Given the description of an element on the screen output the (x, y) to click on. 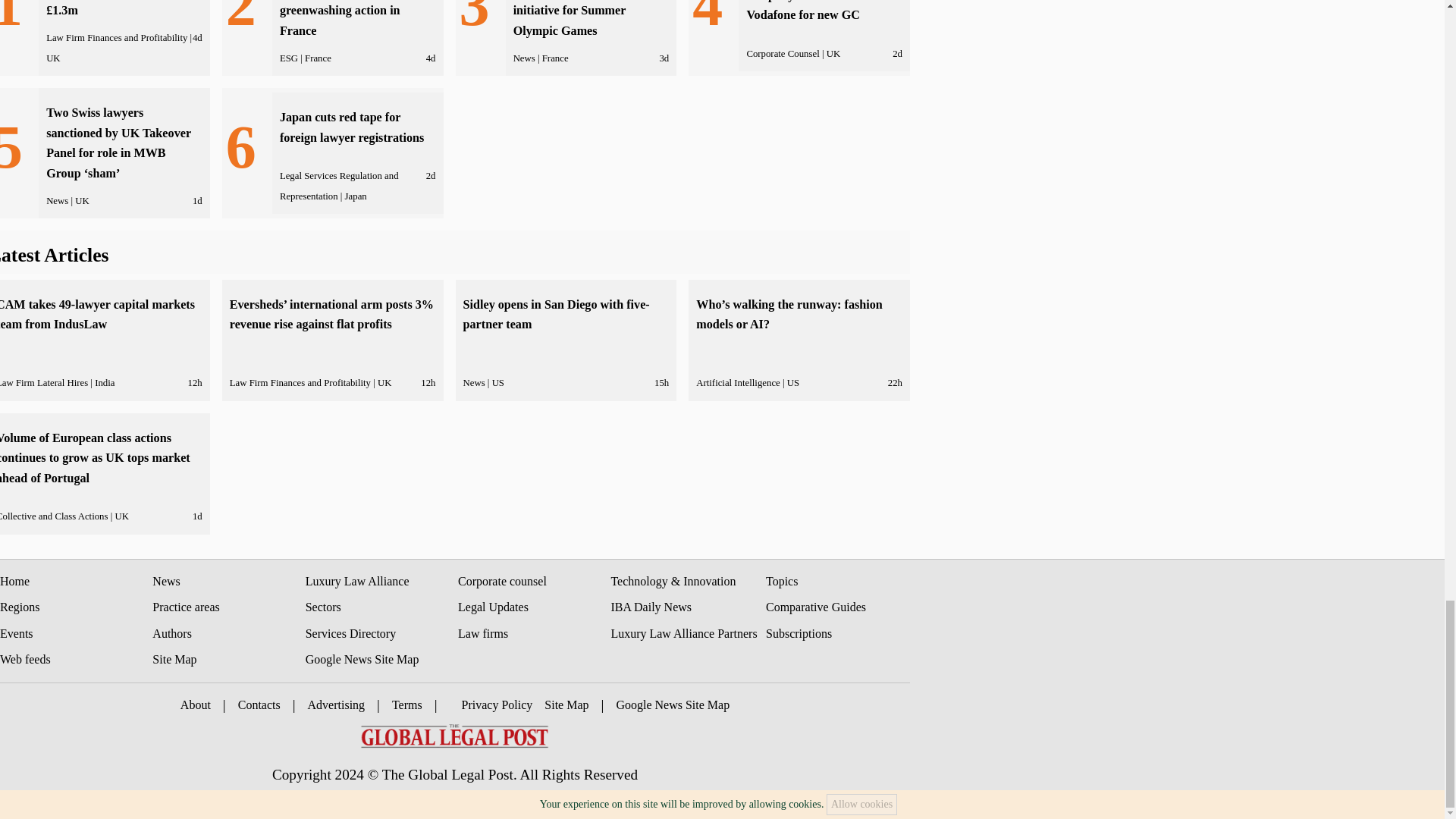
ESG (288, 58)
France (317, 58)
Law Firm Finances and Profitability (116, 37)
UK (52, 58)
